Given the description of an element on the screen output the (x, y) to click on. 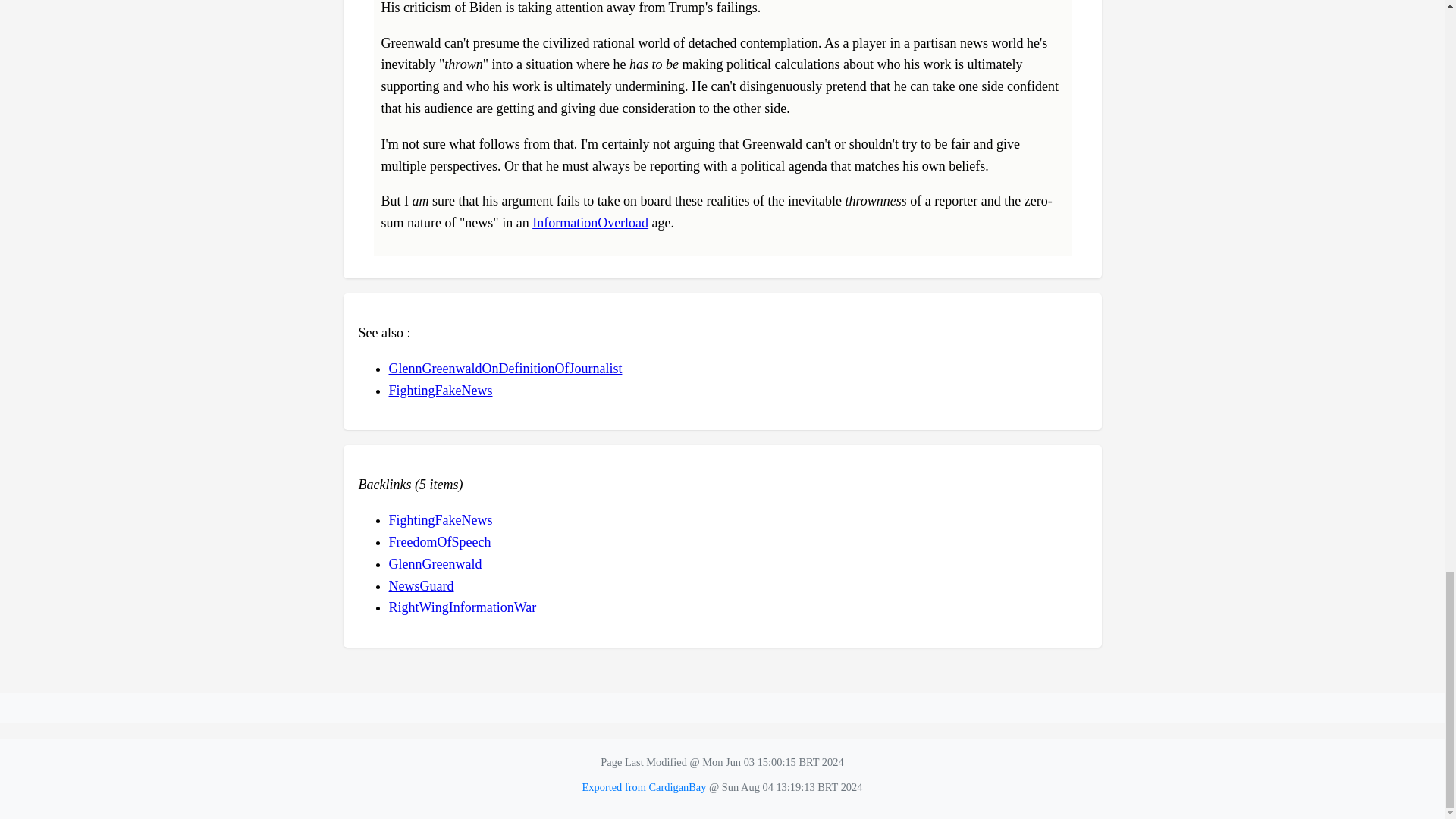
FreedomOfSpeech (439, 541)
GlennGreenwaldOnDefinitionOfJournalist (504, 368)
RightWingInformationWar (461, 607)
FightingFakeNews (440, 390)
GlennGreenwald (434, 563)
InformationOverload (589, 222)
Exported from CardiganBay (644, 787)
NewsGuard (420, 585)
FightingFakeNews (440, 519)
